Given the description of an element on the screen output the (x, y) to click on. 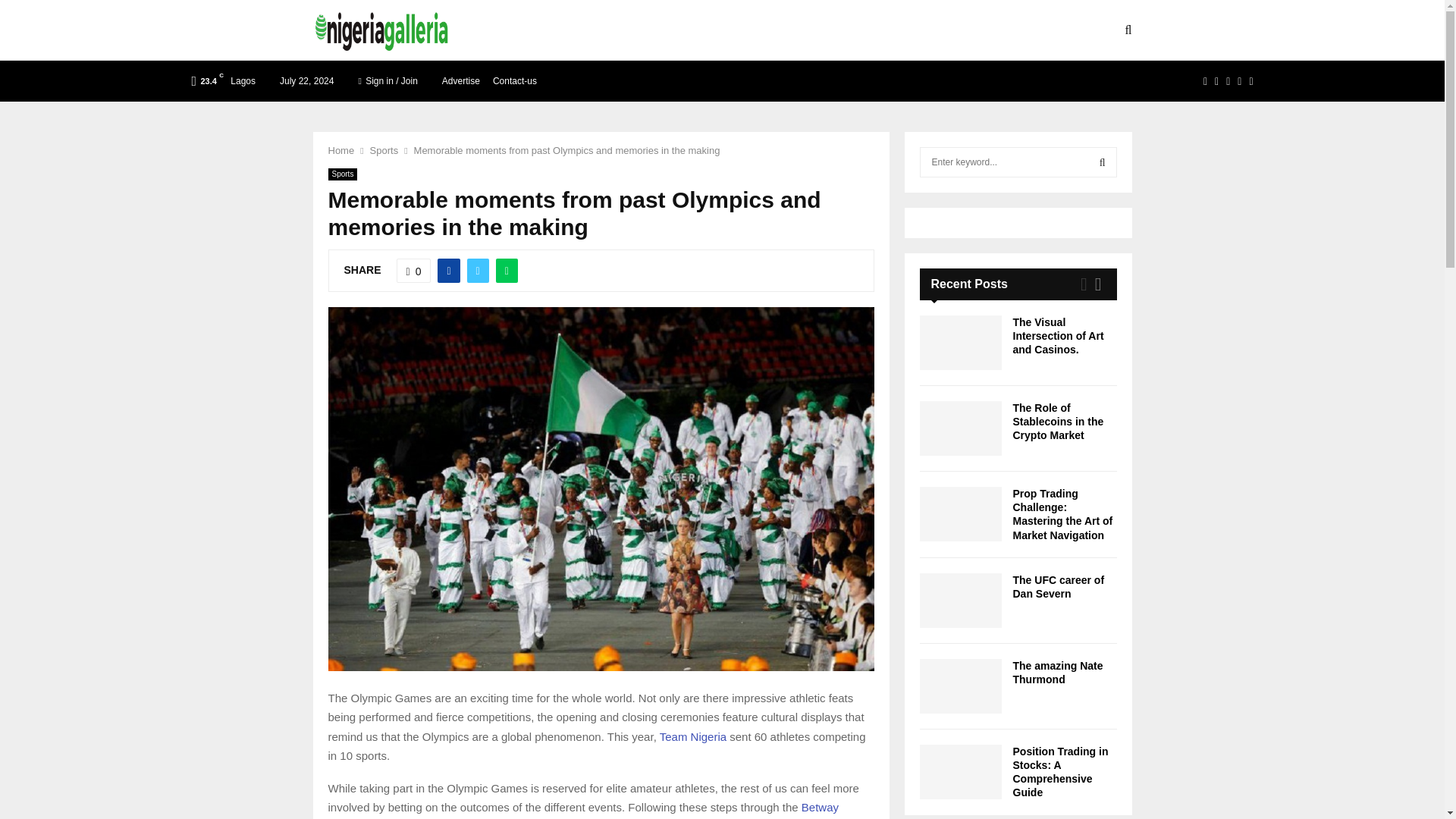
Advertise (461, 80)
Like (413, 270)
The Visual Intersection of Art and Casinos. (959, 342)
The Role of Stablecoins in the Crypto Market (959, 428)
Home (340, 150)
DIRECTORY (686, 30)
 The Visual Intersection of Art and Casinos.  (1058, 335)
Contact-us (515, 80)
Login to your account (722, 328)
NIGERIA GUIDE (593, 30)
Sports (383, 150)
Betway registration (582, 809)
 The Role of Stablecoins in the Crypto Market  (1058, 421)
0 (413, 270)
